Given the description of an element on the screen output the (x, y) to click on. 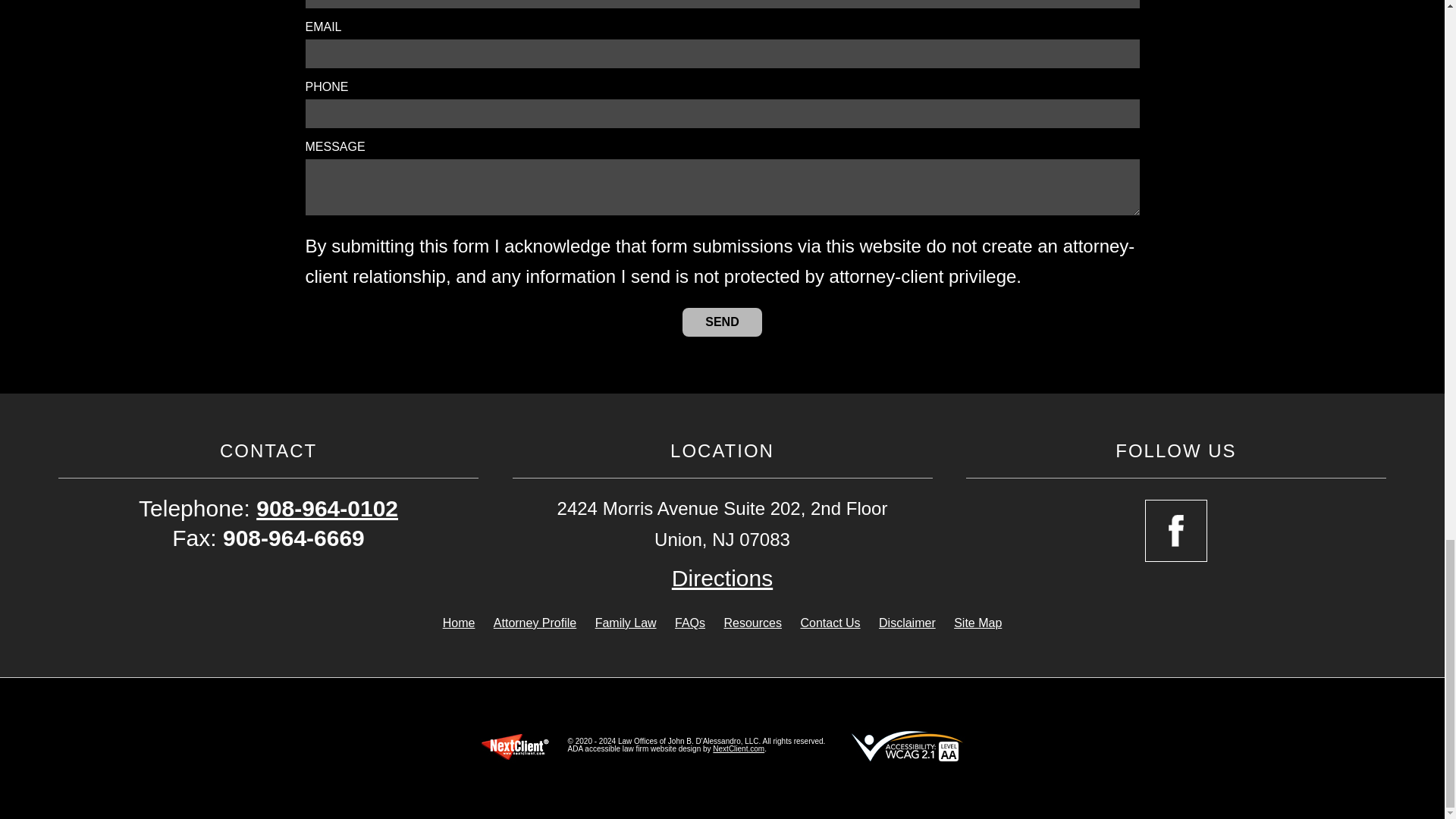
Open Facebook in a New Window (1175, 530)
Open Google Map in a New Window (722, 577)
Send (721, 321)
Open NextClient.com in a New Window (738, 748)
